Given the description of an element on the screen output the (x, y) to click on. 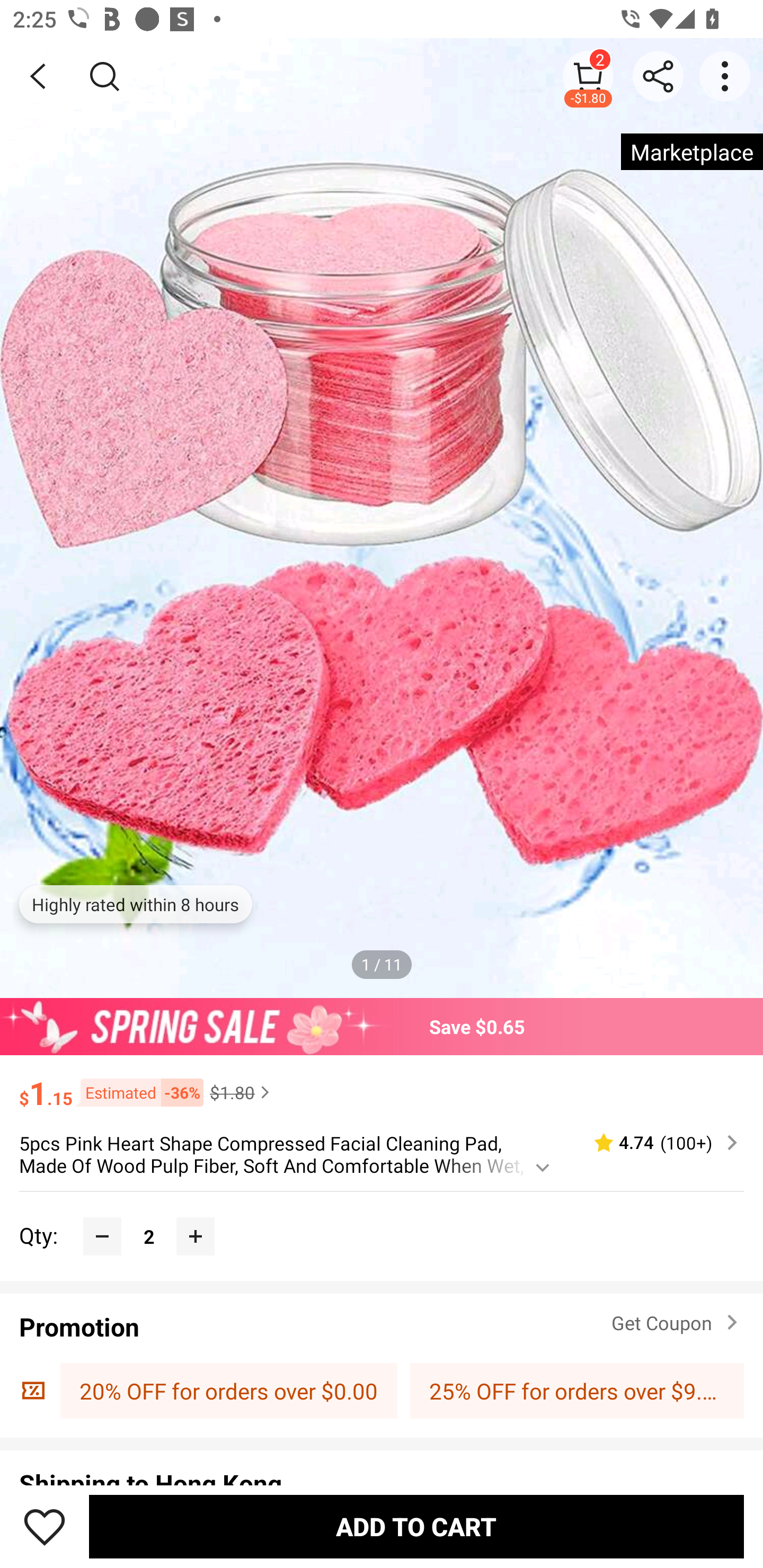
BACK (38, 75)
2 -$1.80 (588, 75)
1 / 11 (381, 964)
Save $0.65 (381, 1026)
$1.15 Estimated -36% $1.80 (381, 1084)
Estimated -36% (137, 1092)
$1.80 (241, 1091)
4.74 (100‎+) (658, 1142)
Qty: 2 (381, 1216)
ADD TO CART (416, 1526)
Save (44, 1526)
